Given the description of an element on the screen output the (x, y) to click on. 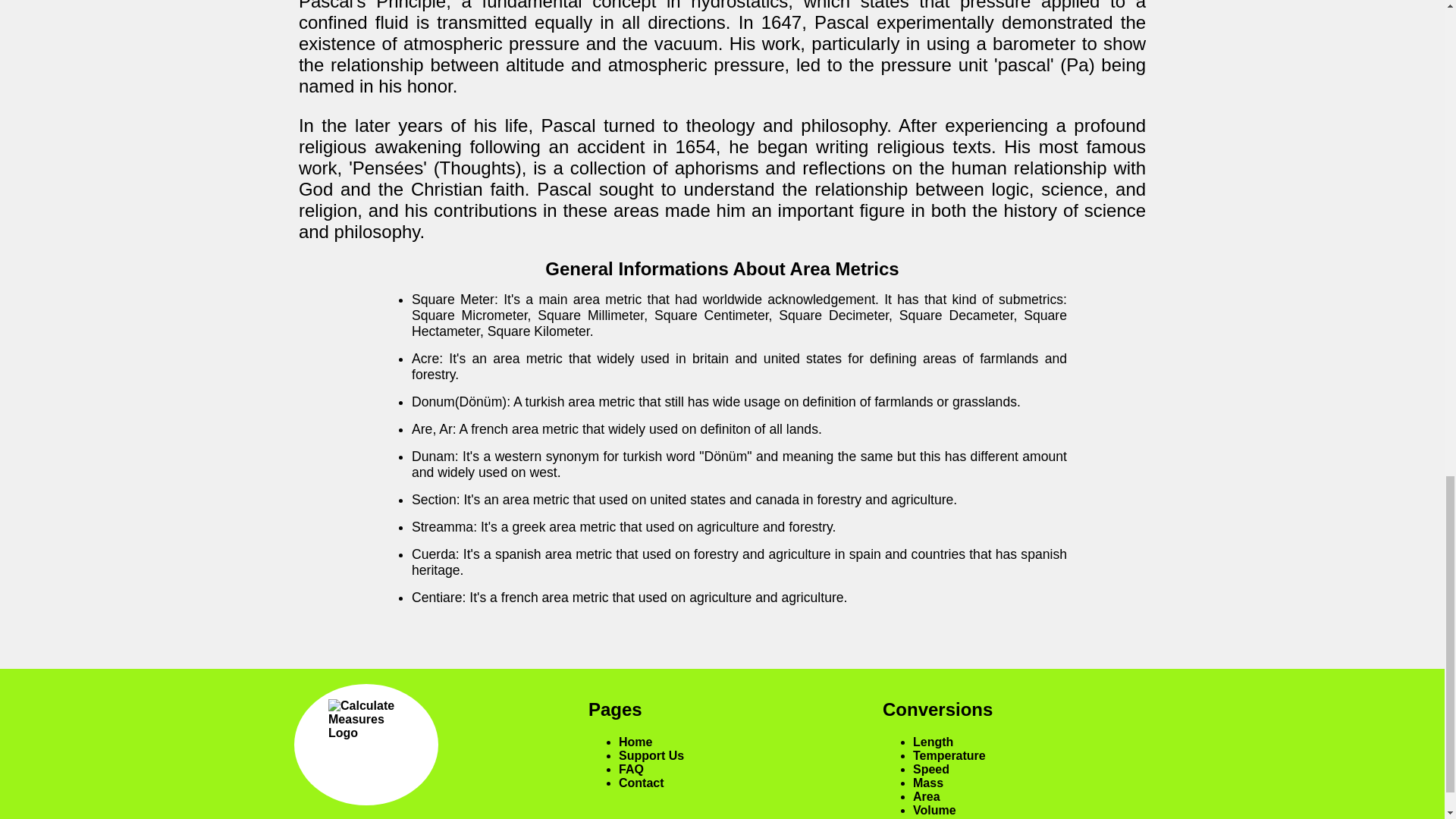
Footer FAQ Link (630, 768)
Speed (930, 768)
Temperature Conversion Page (948, 755)
Volume Conversion Page (934, 809)
Length (932, 741)
Length Conversion Page (932, 741)
Area Conversion Page (926, 796)
Support Us (651, 755)
Mass Conversion Page (927, 782)
Footer Contact Link (640, 782)
